Given the description of an element on the screen output the (x, y) to click on. 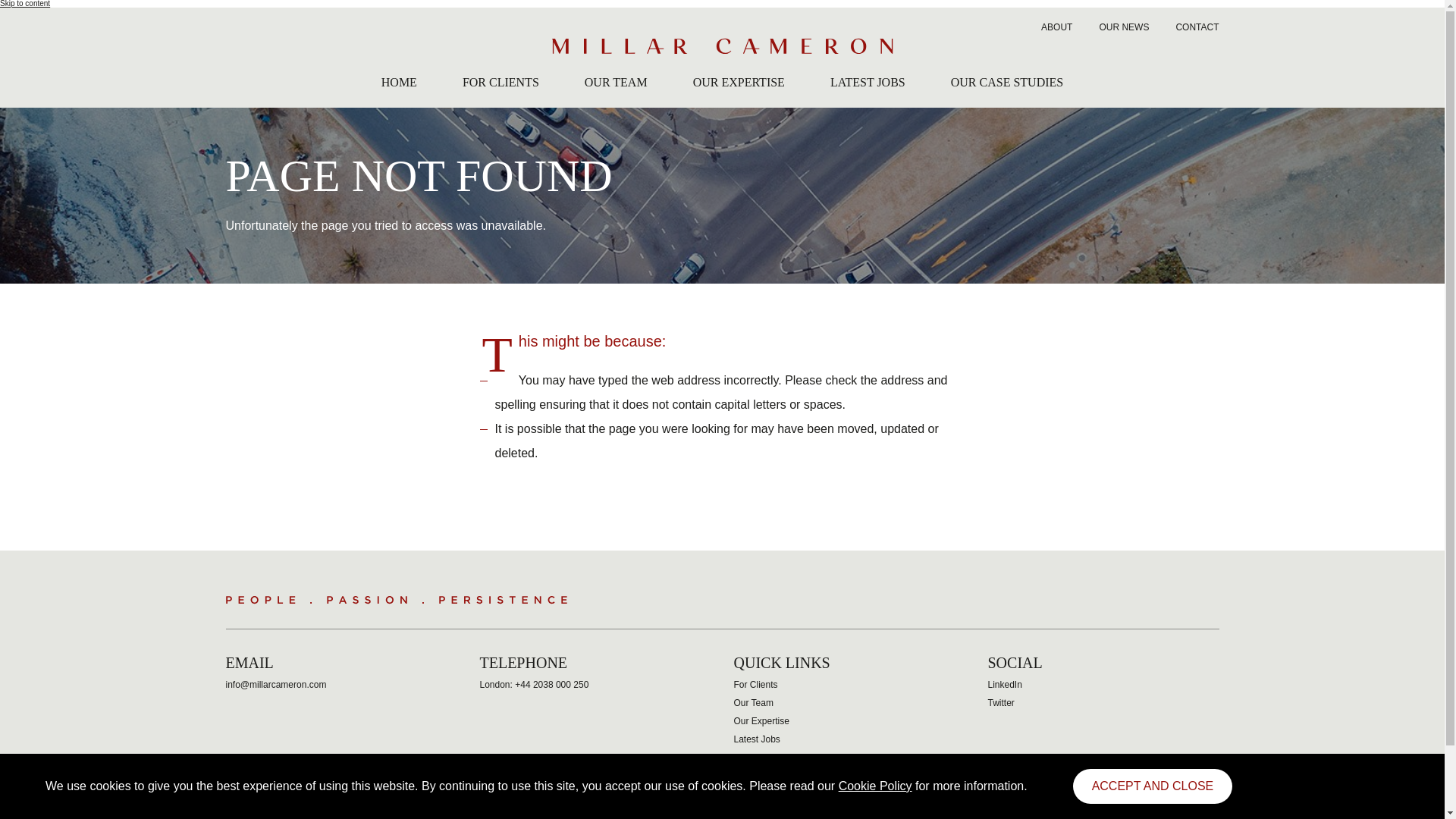
Privacy Policy (432, 816)
ACCEPT AND CLOSE (1153, 786)
OUR CASE STUDIES (1006, 84)
LATEST JOBS (867, 84)
Our Team (753, 702)
LinkedIn (1004, 684)
Our Expertise (761, 720)
Modern Slavery Statement (608, 816)
For Clients (755, 684)
Skip to content (24, 3)
